Given the description of an element on the screen output the (x, y) to click on. 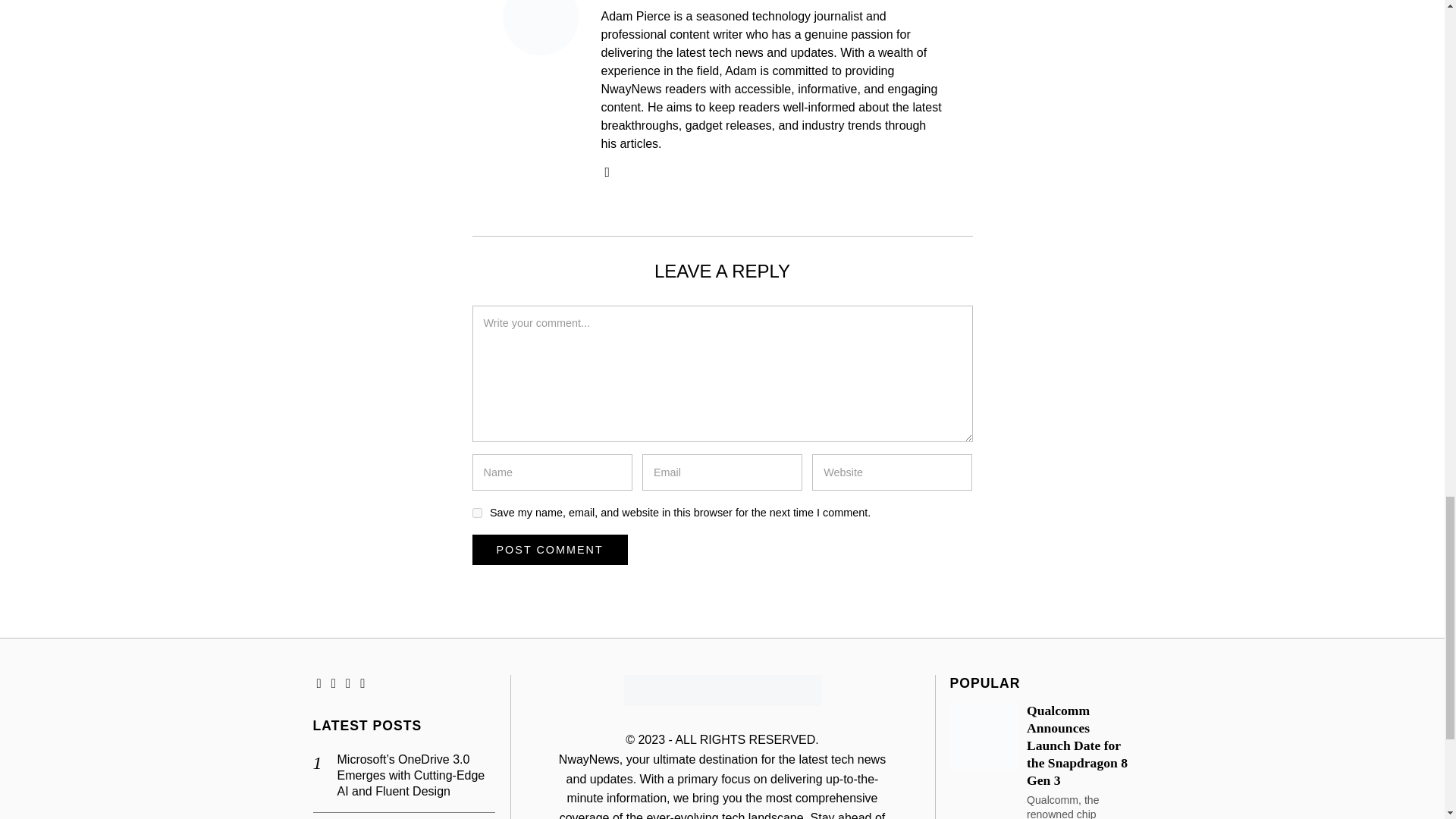
yes (476, 512)
Post Comment (549, 549)
Post Comment (549, 549)
